Given the description of an element on the screen output the (x, y) to click on. 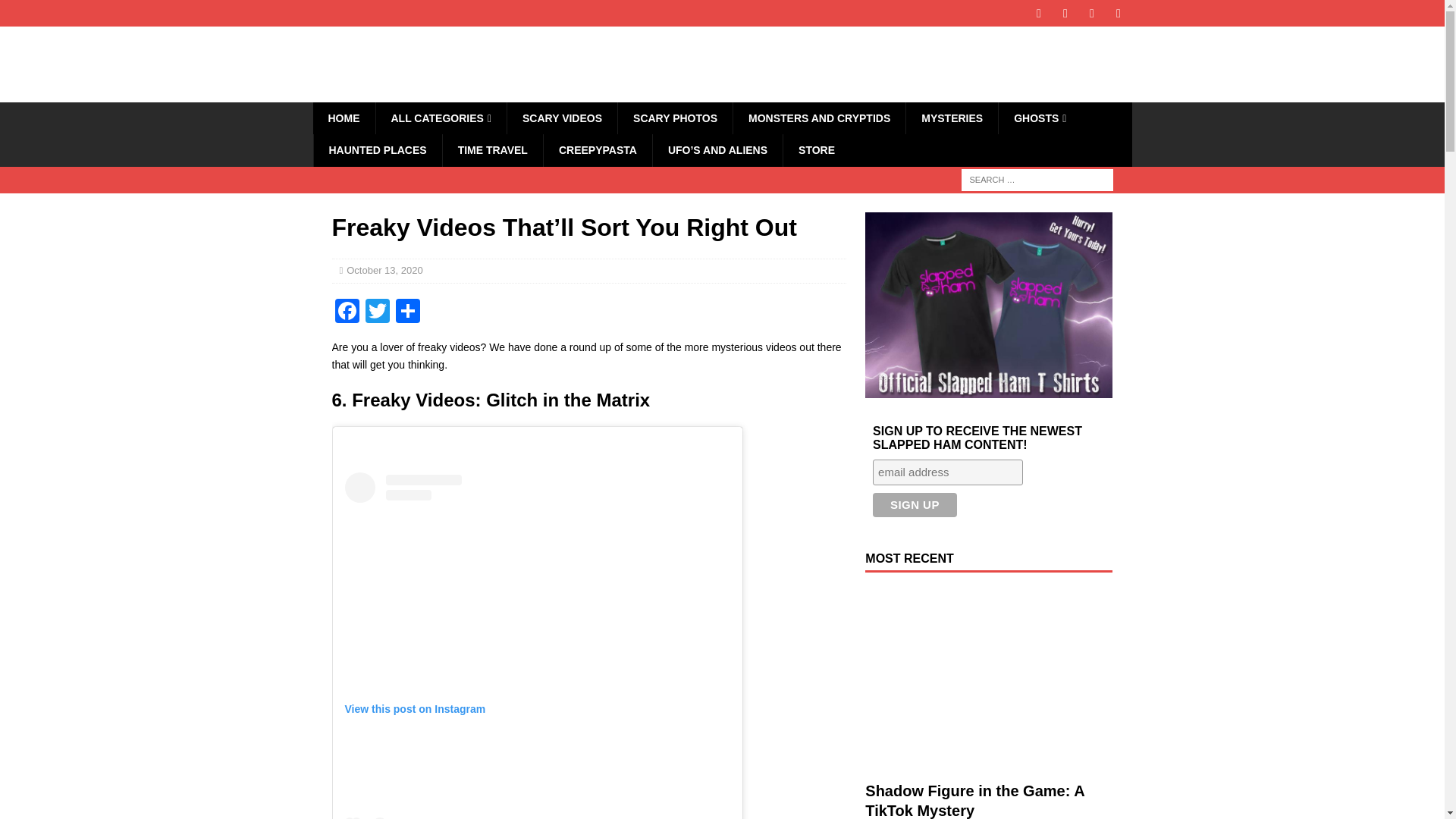
Slapped Ham T-Shirts and Hoodies (816, 150)
HOME (343, 118)
Facebook (346, 312)
GHOSTS (1039, 118)
SCARY PHOTOS (674, 118)
SCARY VIDEOS (561, 118)
Slapped Ham (426, 93)
Twitter (377, 312)
ALL CATEGORIES (440, 118)
MYSTERIES (951, 118)
MONSTERS AND CRYPTIDS (818, 118)
Sign Up (914, 504)
